Given the description of an element on the screen output the (x, y) to click on. 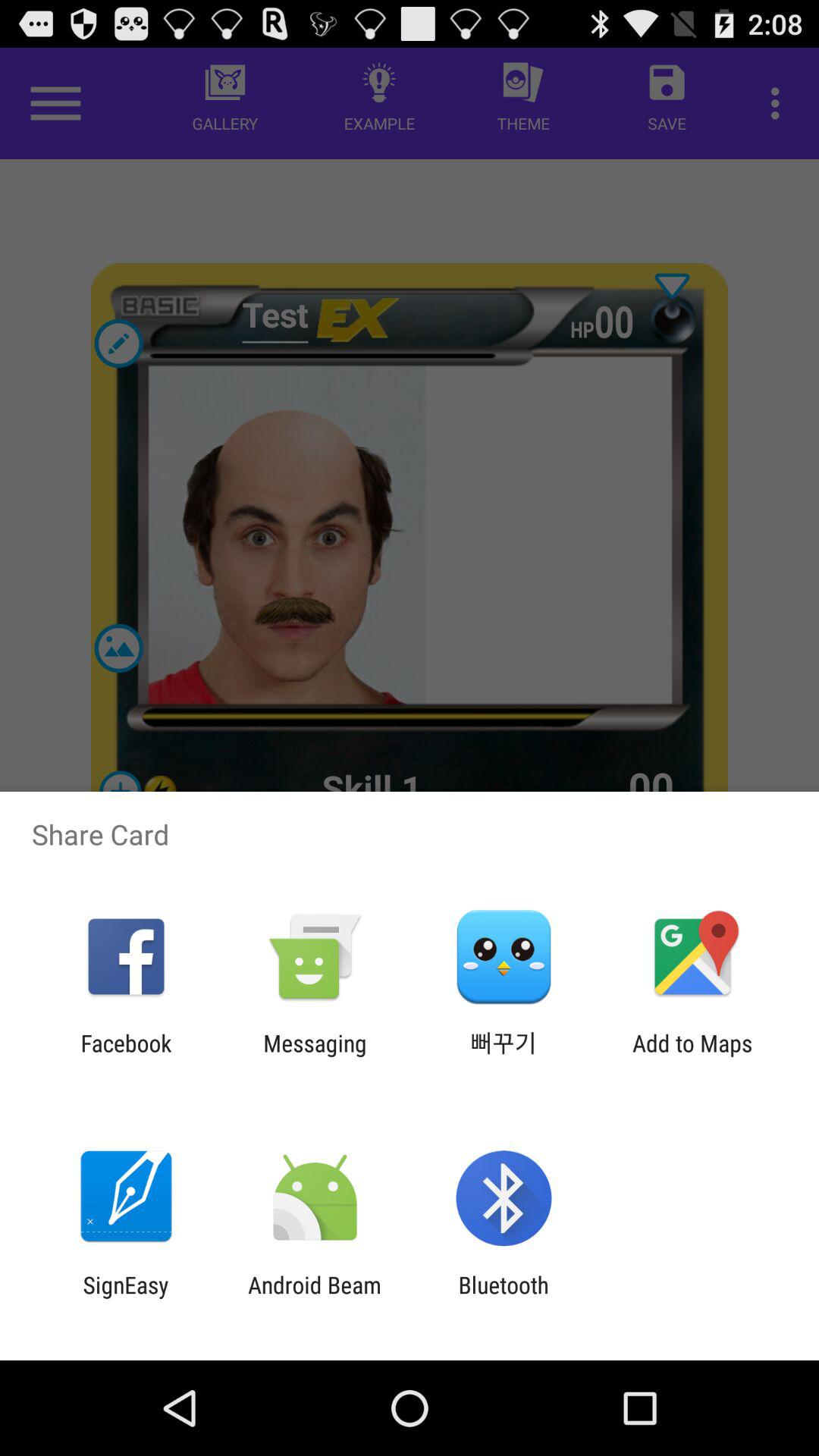
press item to the left of the bluetooth app (314, 1298)
